Given the description of an element on the screen output the (x, y) to click on. 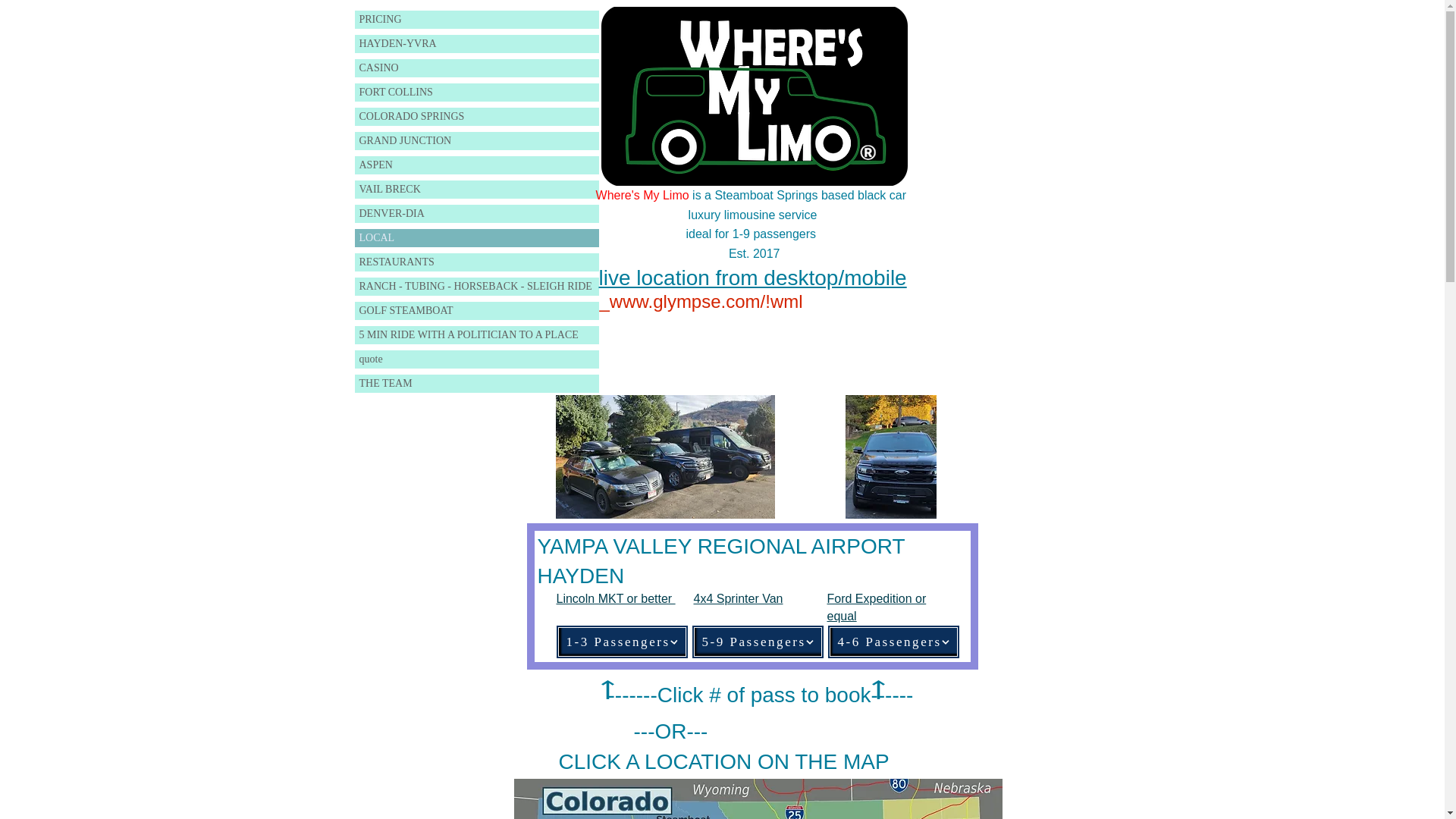
HAYDEN-YVRA (476, 44)
GRAND JUNCTION (476, 140)
GOLF STEAMBOAT (476, 311)
quote (476, 359)
VAIL BRECK (476, 189)
RESTAURANTS (476, 262)
1-3 Passengers (620, 641)
PRICING (476, 19)
4-6 Passengers (893, 641)
5 MIN RIDE WITH A POLITICIAN TO A PLACE (476, 334)
